Given the description of an element on the screen output the (x, y) to click on. 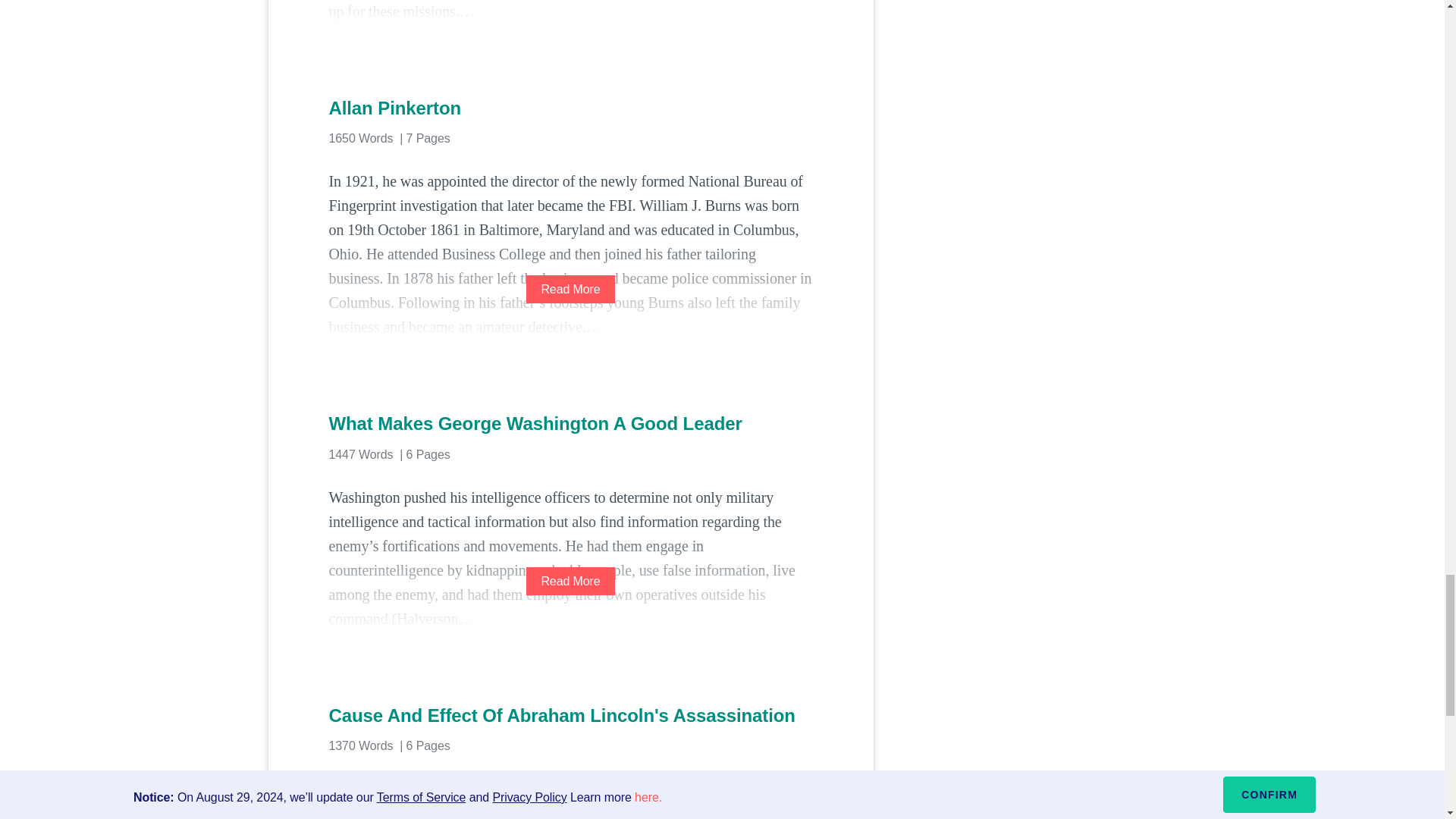
Allan Pinkerton (570, 108)
Cause And Effect Of Abraham Lincoln's Assassination (570, 715)
Read More (569, 581)
Read More (569, 289)
What Makes George Washington A Good Leader (570, 423)
